Given the description of an element on the screen output the (x, y) to click on. 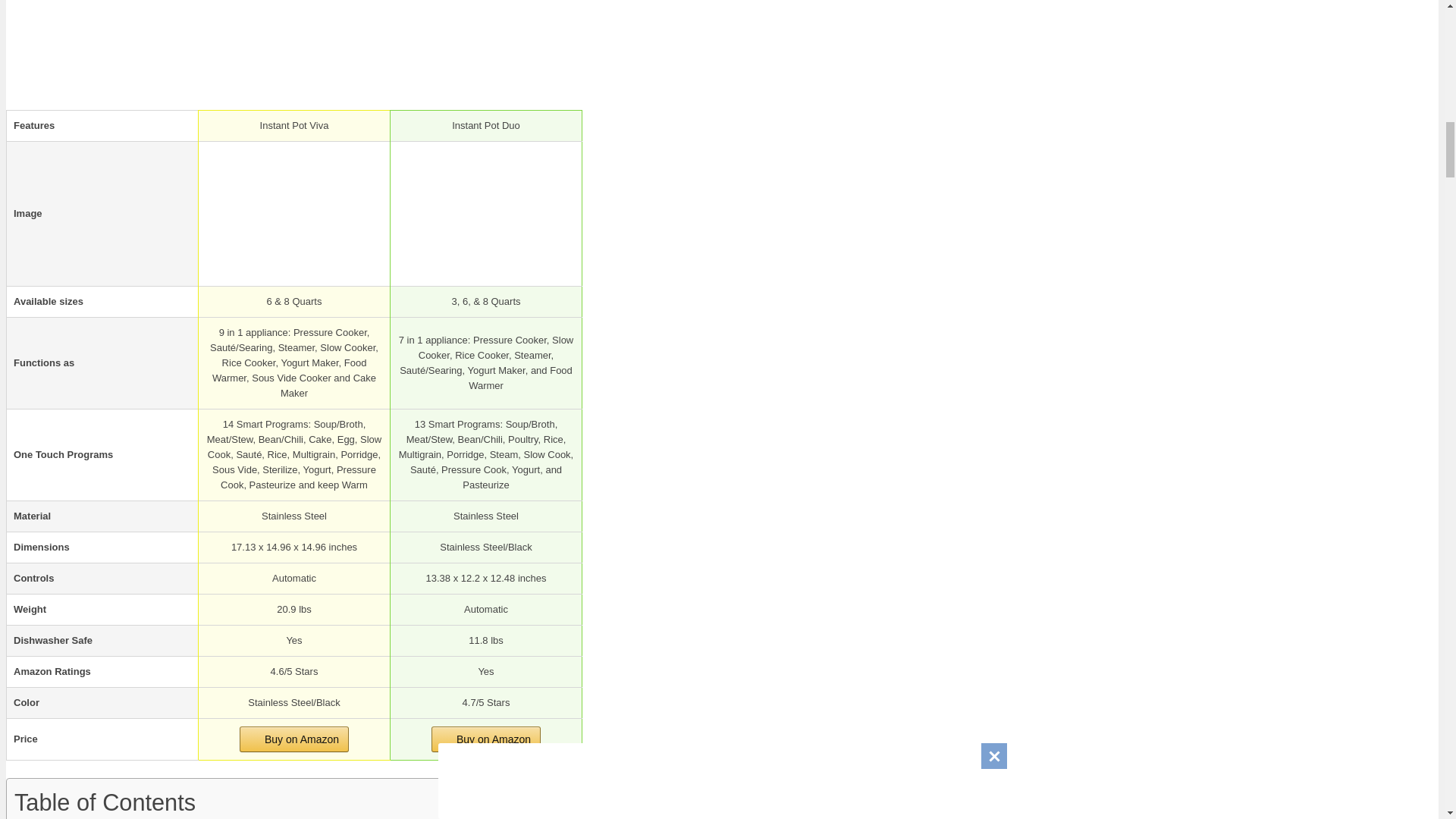
Buy on Amazon (294, 739)
Buy on Amazon (485, 739)
Buy on Amazon (485, 739)
Buy on Amazon (294, 739)
